Given the description of an element on the screen output the (x, y) to click on. 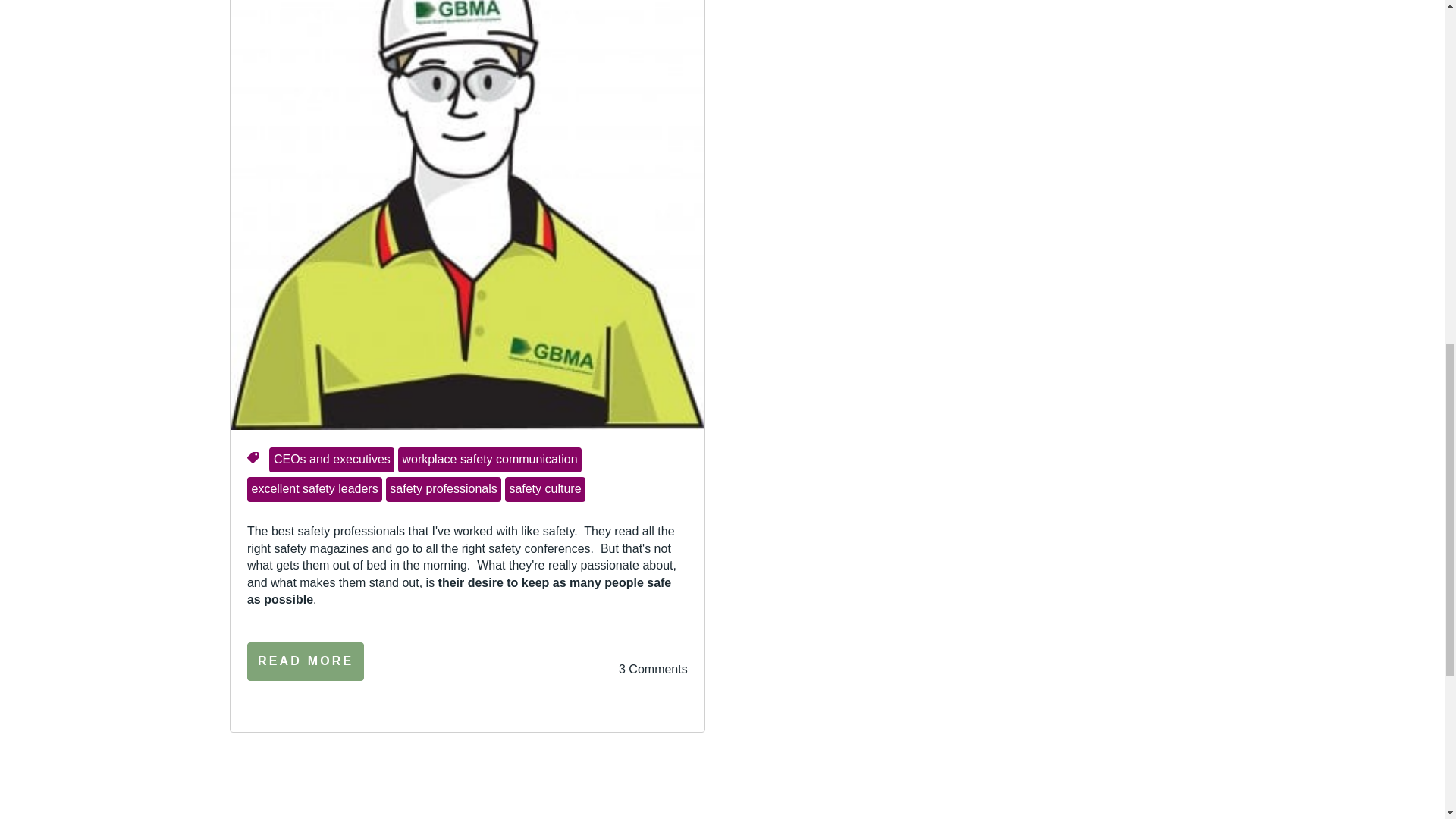
excellent safety leaders (314, 489)
CEOs and executives (331, 460)
safety culture (545, 489)
workplace safety communication (488, 460)
safety professionals (443, 489)
READ MORE (306, 661)
